Given the description of an element on the screen output the (x, y) to click on. 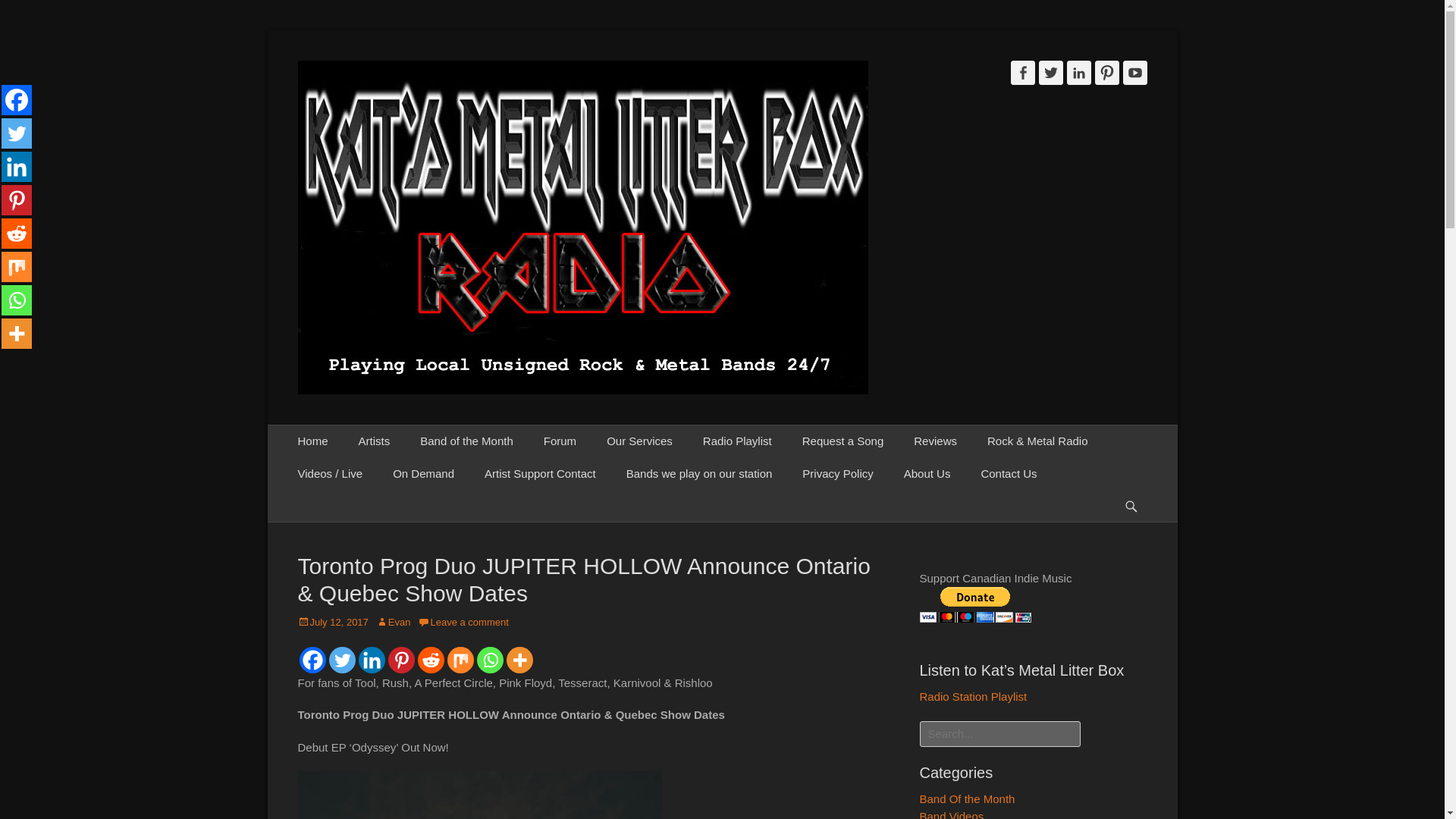
YouTube (1134, 72)
More (519, 659)
Twitter (342, 659)
Artists (374, 441)
Linkedin (371, 659)
Pinterest (1106, 72)
Pinterest (401, 659)
LinkedIn (1077, 72)
Twitter (1050, 72)
Facebook (311, 659)
